Given the description of an element on the screen output the (x, y) to click on. 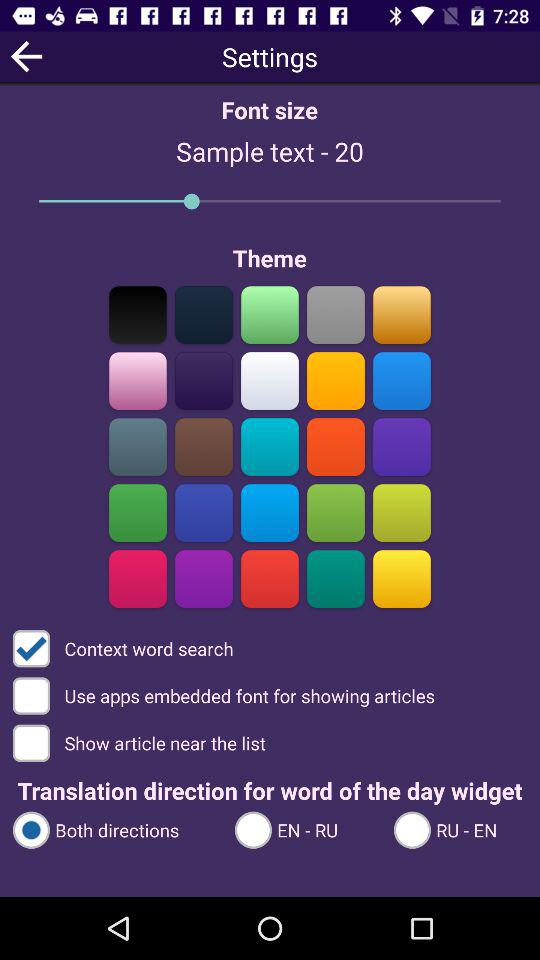
choose theme color (203, 446)
